Given the description of an element on the screen output the (x, y) to click on. 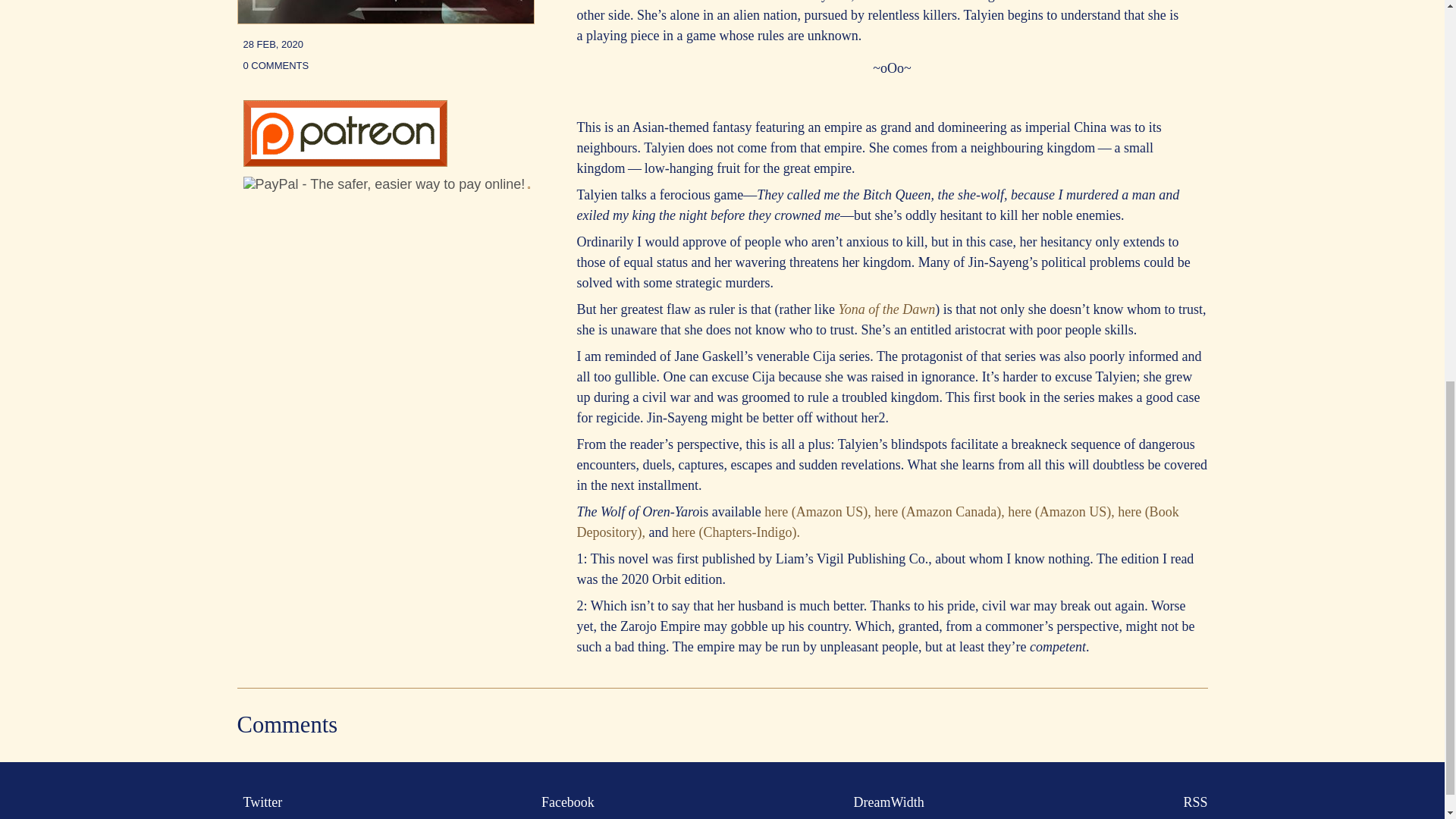
RSS (1191, 801)
Facebook (564, 801)
DreamWidth (885, 801)
Twitter (258, 801)
Yona of the Dawn (886, 309)
Patreon (344, 161)
